Given the description of an element on the screen output the (x, y) to click on. 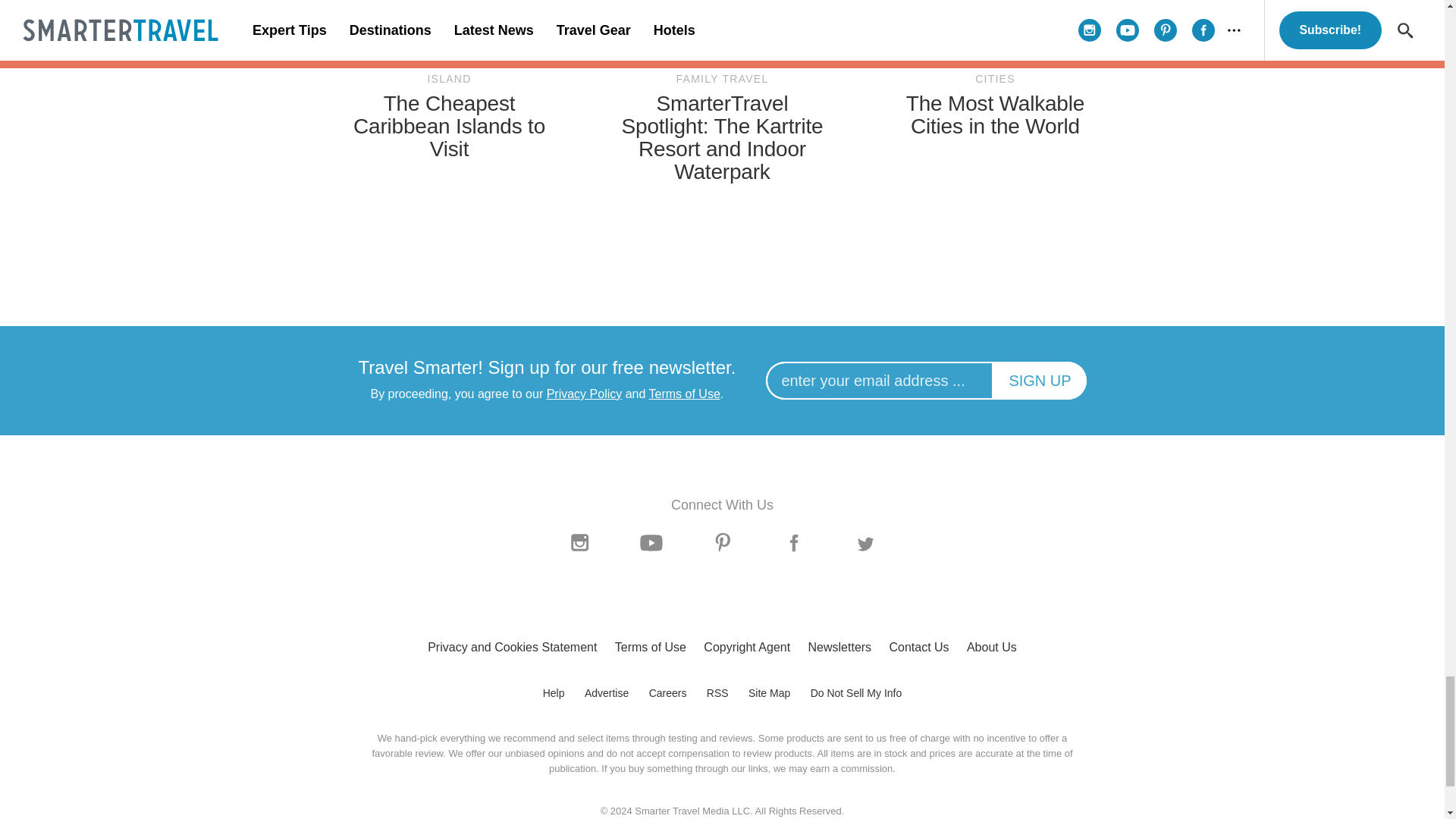
View all posts in Cities (995, 79)
View all posts in Island (448, 79)
View all posts in Family Travel (722, 79)
